Given the description of an element on the screen output the (x, y) to click on. 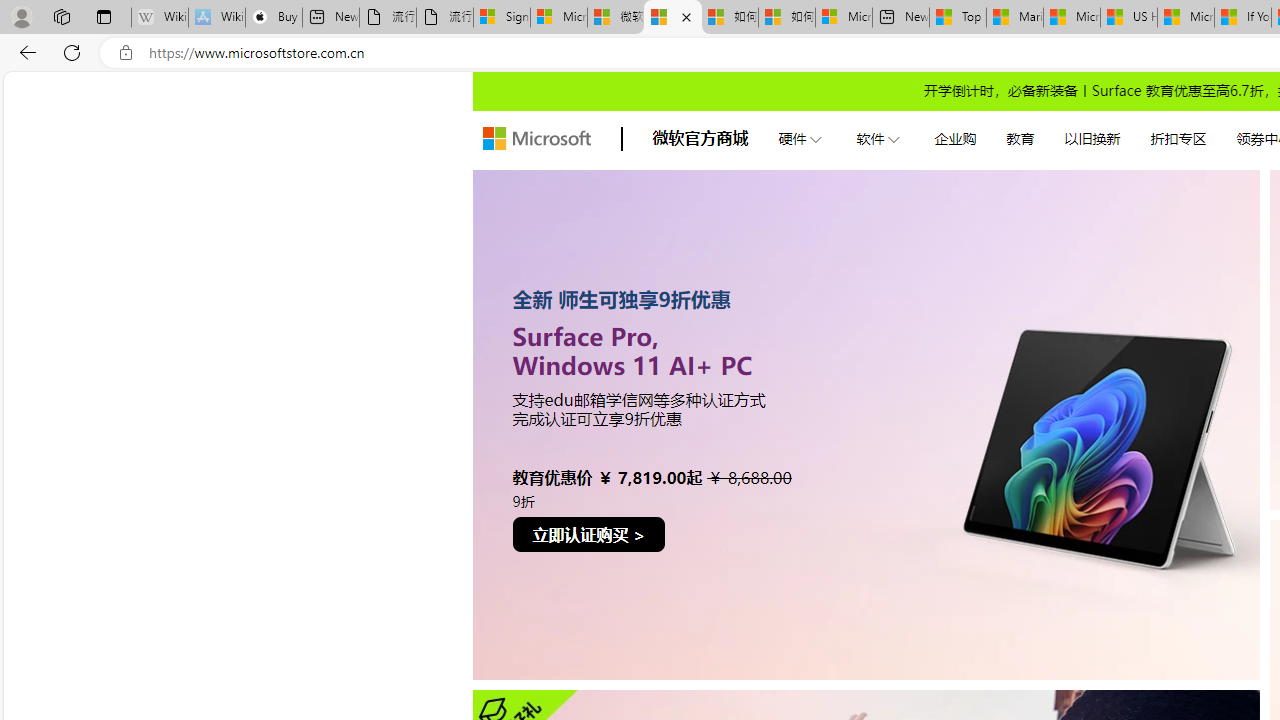
Pro (865, 424)
Marine life - MSN (1014, 17)
